Given the description of an element on the screen output the (x, y) to click on. 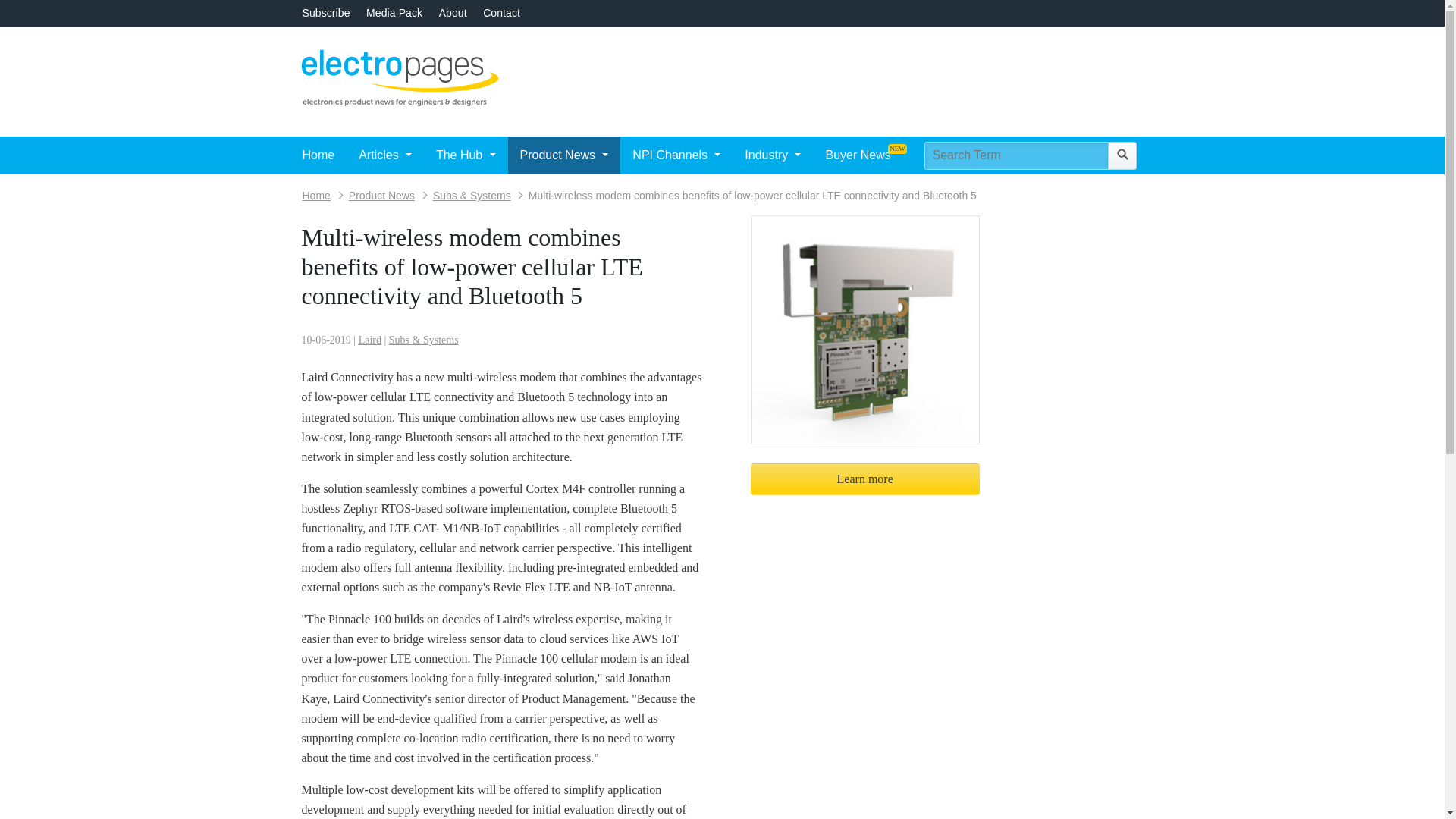
Product News (564, 155)
Contact (501, 12)
The Hub (465, 155)
About (453, 12)
Home (317, 155)
Media Pack (394, 12)
Subscribe (325, 12)
Articles (384, 155)
